Given the description of an element on the screen output the (x, y) to click on. 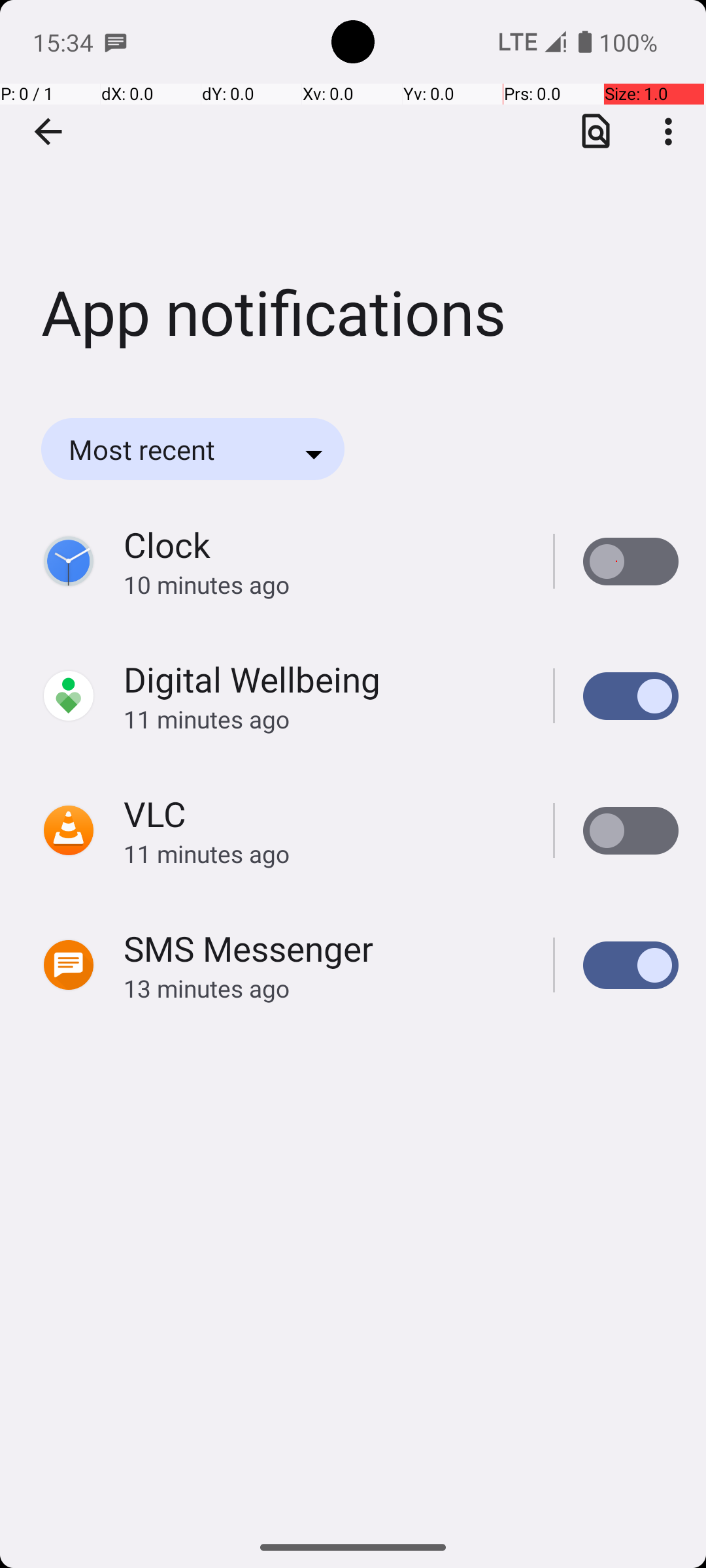
App notifications Element type: android.widget.FrameLayout (353, 195)
Most recent Element type: android.widget.TextView (159, 448)
10 minutes ago Element type: android.widget.TextView (324, 584)
Digital Wellbeing Element type: android.widget.TextView (252, 678)
11 minutes ago Element type: android.widget.TextView (324, 718)
13 minutes ago Element type: android.widget.TextView (324, 987)
